Given the description of an element on the screen output the (x, y) to click on. 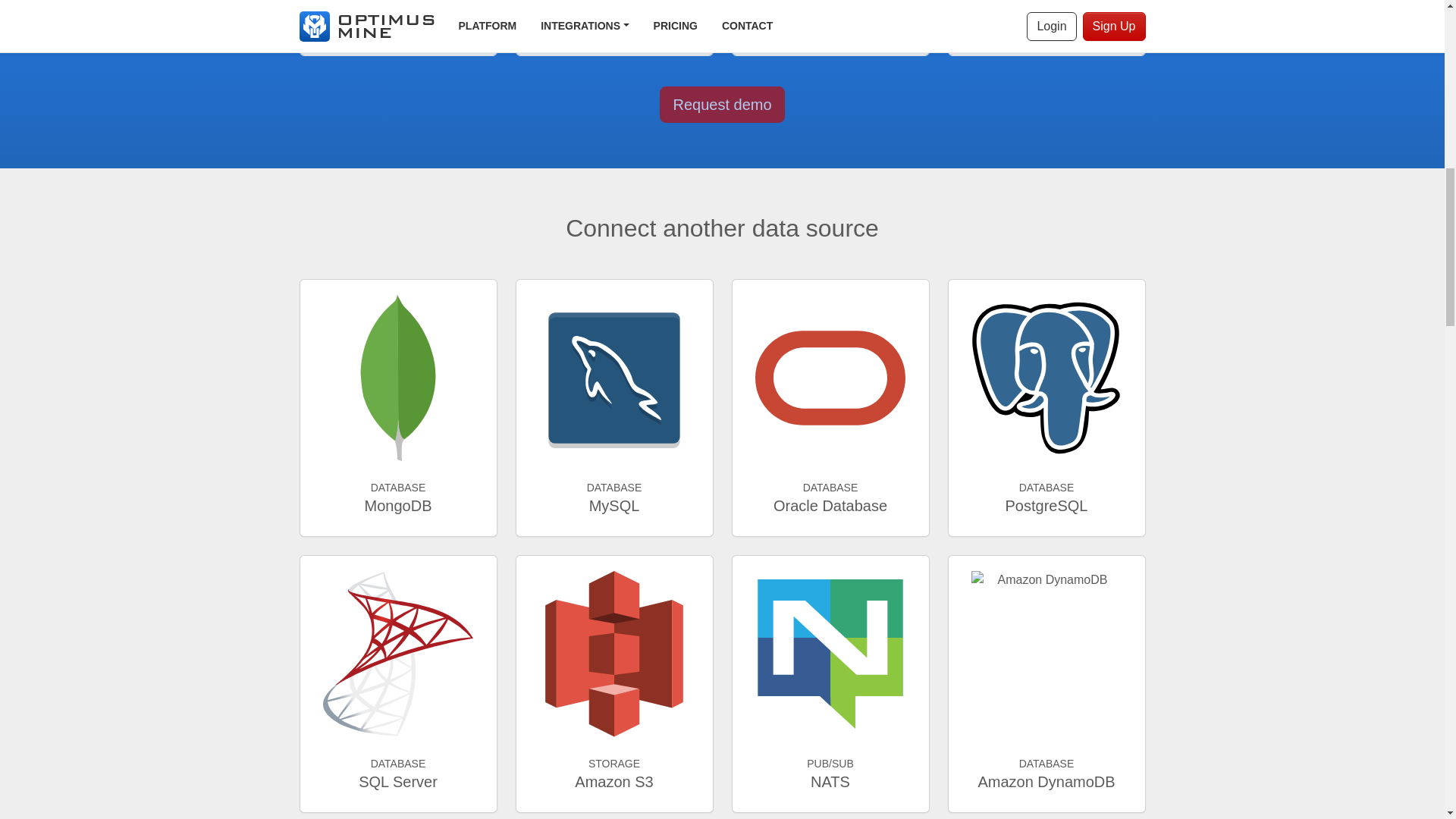
Request demo (721, 104)
